Given the description of an element on the screen output the (x, y) to click on. 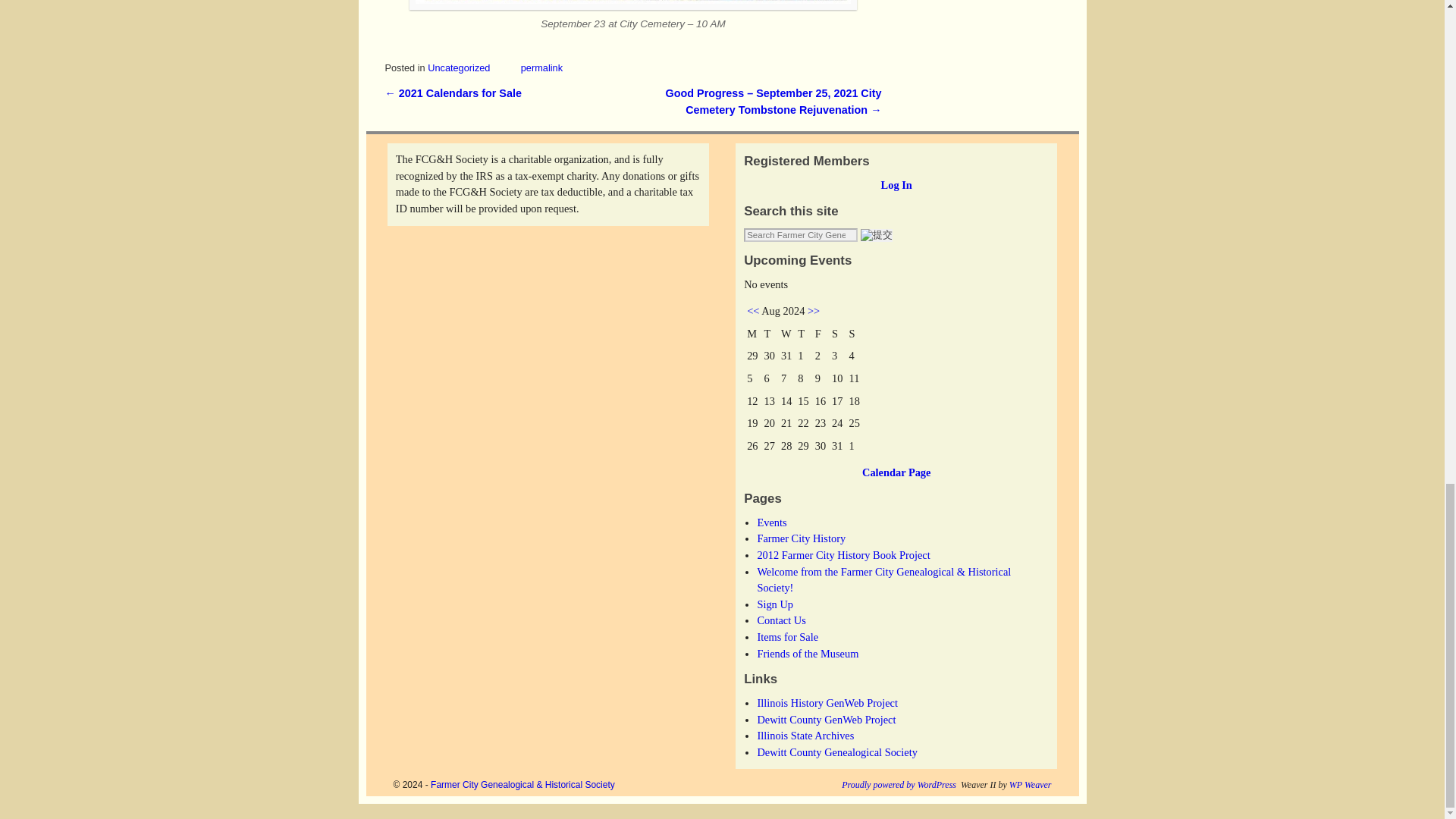
permalink (541, 67)
wordpress.org (898, 784)
Sign Up (775, 604)
2012 Farmer City History Book Project (843, 554)
Farmer City History (801, 538)
Calendar Page (895, 472)
Uncategorized (458, 67)
Permalink to Uprighting Our Heritage (541, 67)
Events (771, 522)
Log In (896, 184)
